Given the description of an element on the screen output the (x, y) to click on. 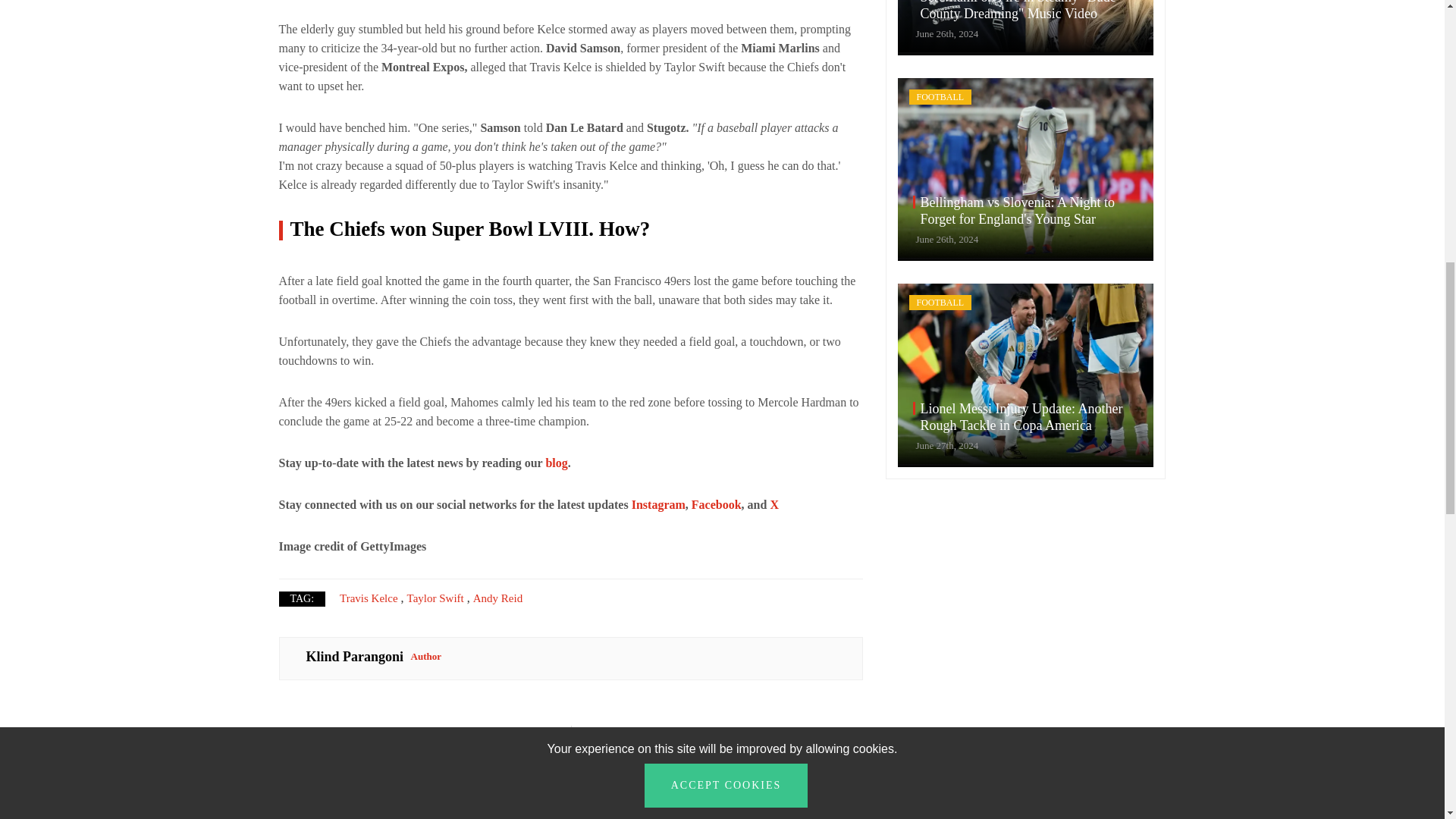
Instagram (658, 504)
Taylor Swift (435, 598)
Andy Reid (497, 598)
Facebook (716, 504)
Travis Kelce (368, 598)
blog (751, 789)
